Given the description of an element on the screen output the (x, y) to click on. 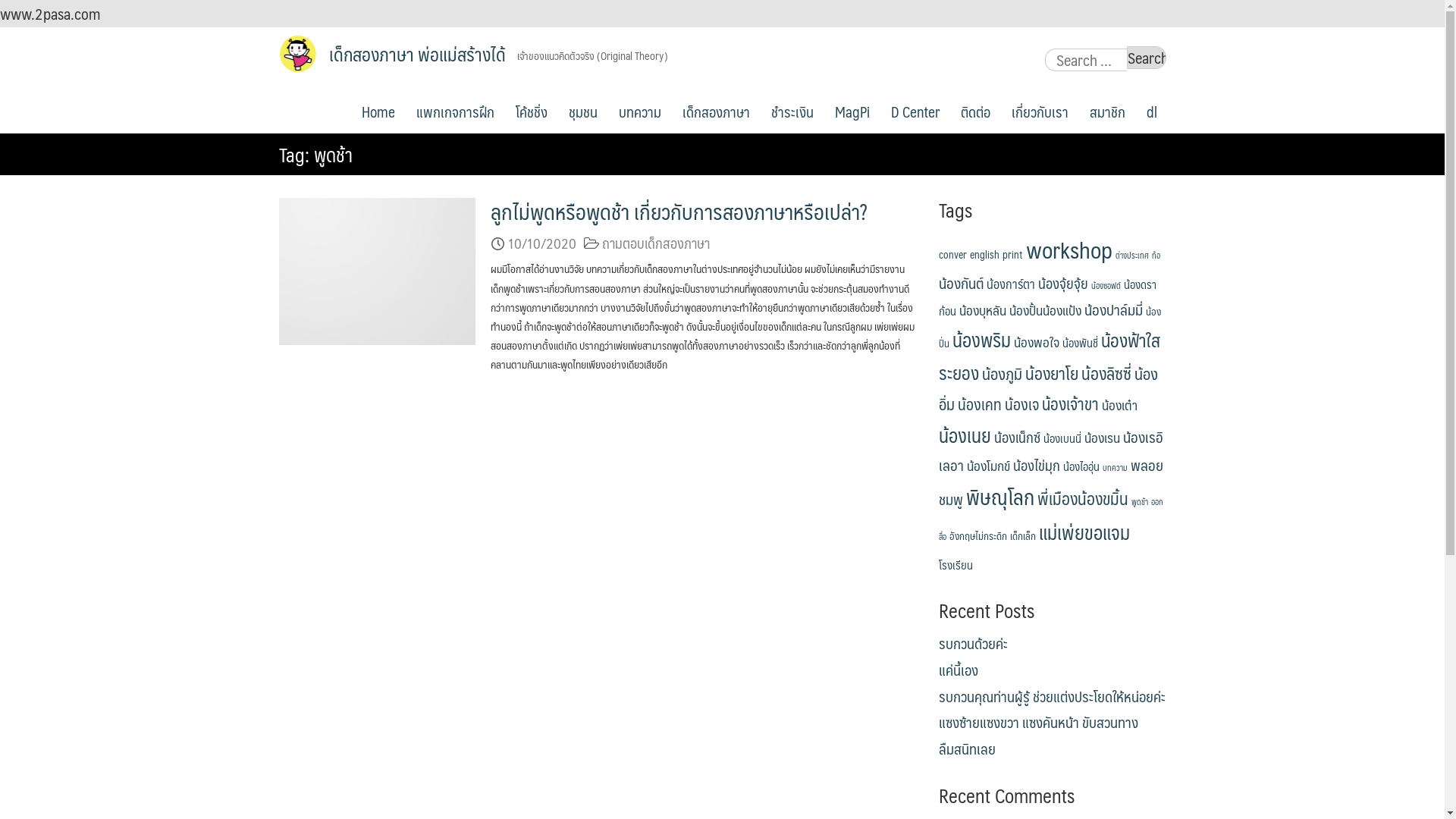
MagPi Element type: text (851, 106)
dl Element type: text (1151, 106)
Search Element type: text (1145, 57)
Home Element type: text (377, 106)
english Element type: text (983, 254)
D Center Element type: text (914, 106)
conver Element type: text (952, 254)
10/10/2020 Element type: text (542, 242)
workshop Element type: text (1068, 249)
print Element type: text (1012, 254)
